Given the description of an element on the screen output the (x, y) to click on. 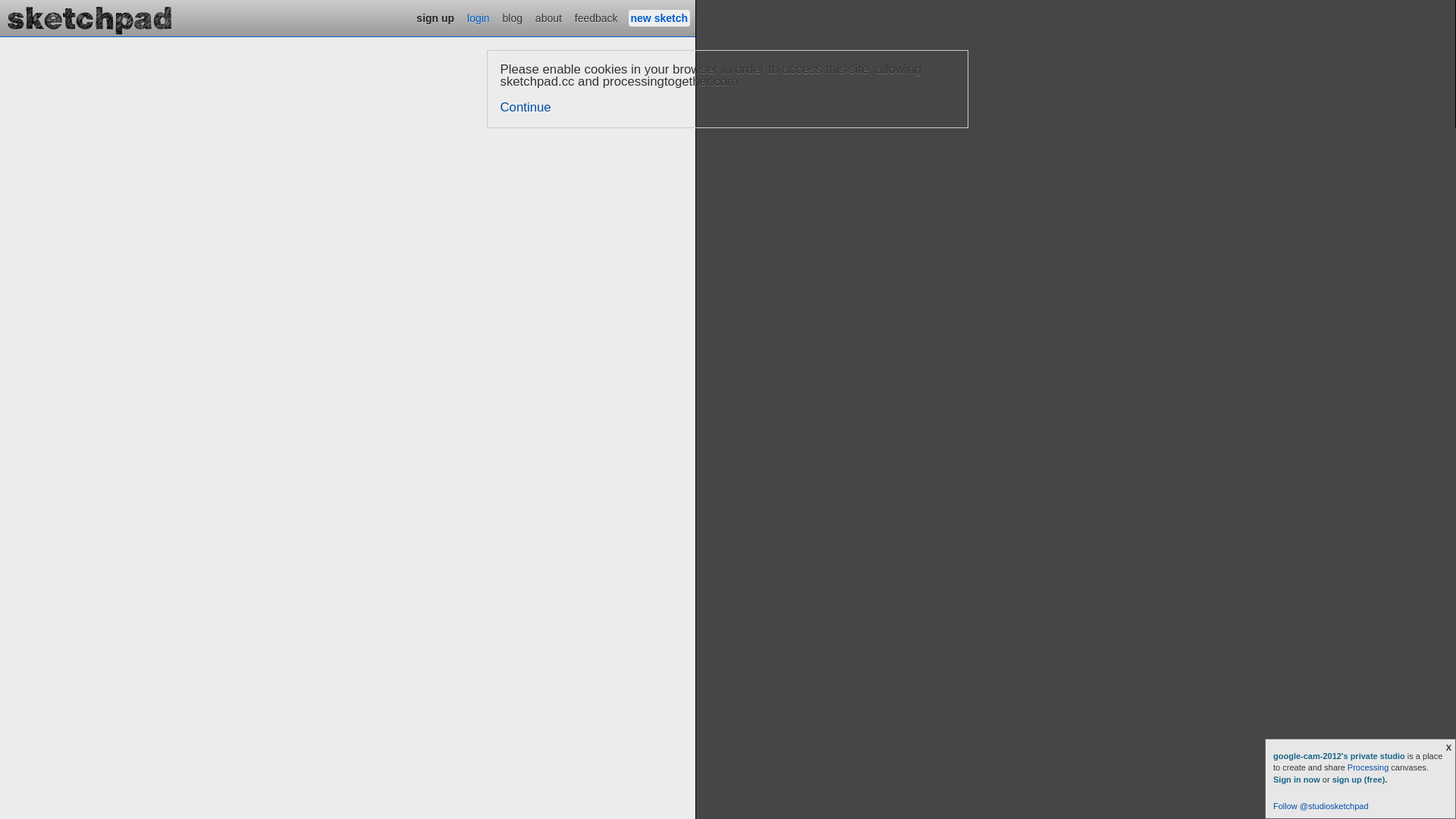
Sign in now Element type: text (1296, 779)
Processing Element type: text (1367, 766)
about Element type: text (548, 17)
Follow @studiosketchpad Element type: text (1320, 805)
sign up (free) Element type: text (1358, 779)
feedback Element type: text (596, 17)
Continue Element type: text (525, 107)
login Element type: text (478, 17)
blog Element type: text (512, 17)
Studio Sketchpad is Processing on Etherpad Element type: hover (90, 18)
google-cam-2012's private studio Element type: text (1340, 755)
sign up Element type: text (435, 17)
new sketch Element type: text (659, 17)
